Given the description of an element on the screen output the (x, y) to click on. 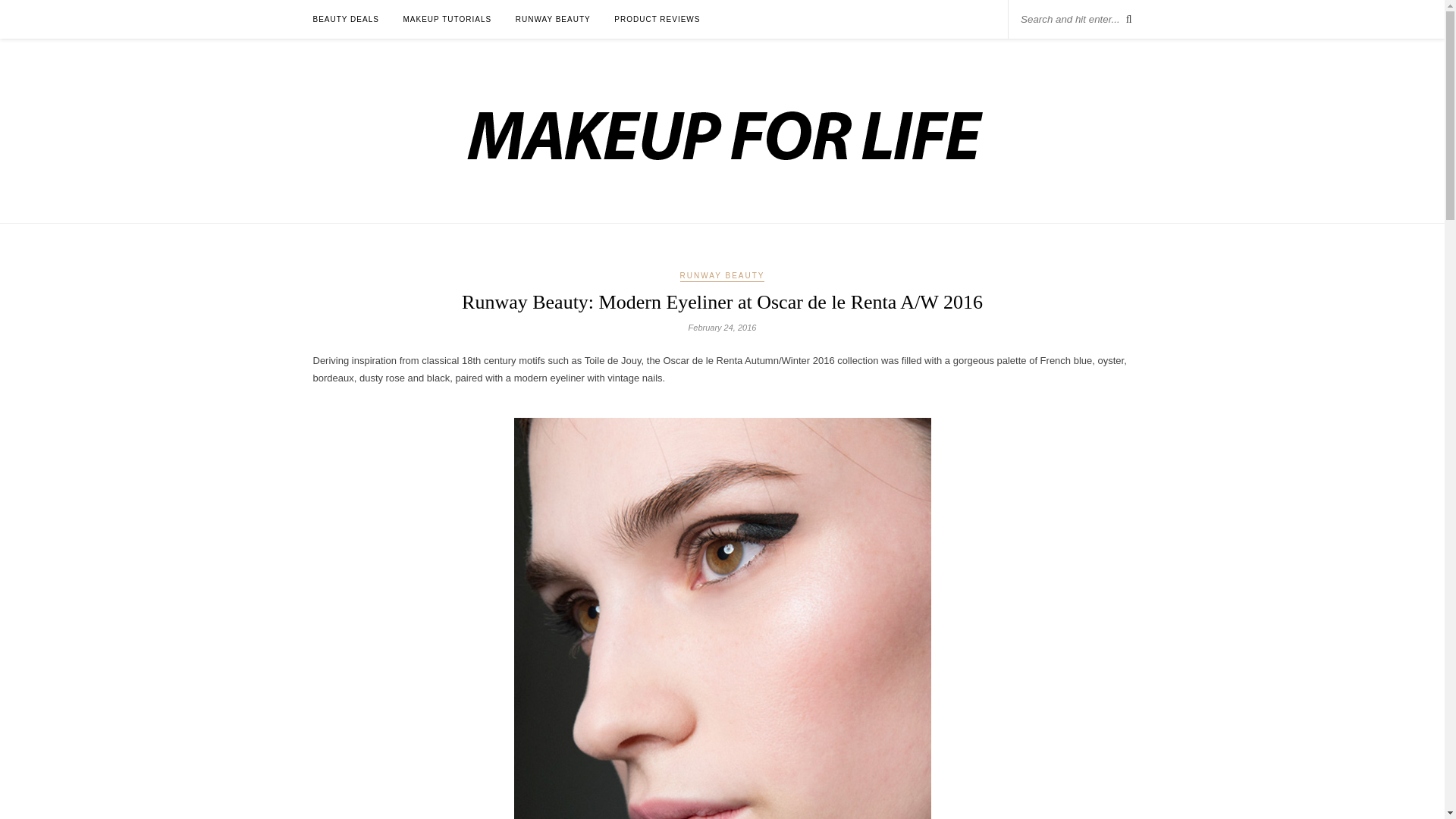
BEAUTY DEALS (345, 19)
MAKEUP TUTORIALS (447, 19)
RUNWAY BEAUTY (722, 276)
View all posts in Runway Beauty (722, 276)
RUNWAY BEAUTY (553, 19)
PRODUCT REVIEWS (657, 19)
